Given the description of an element on the screen output the (x, y) to click on. 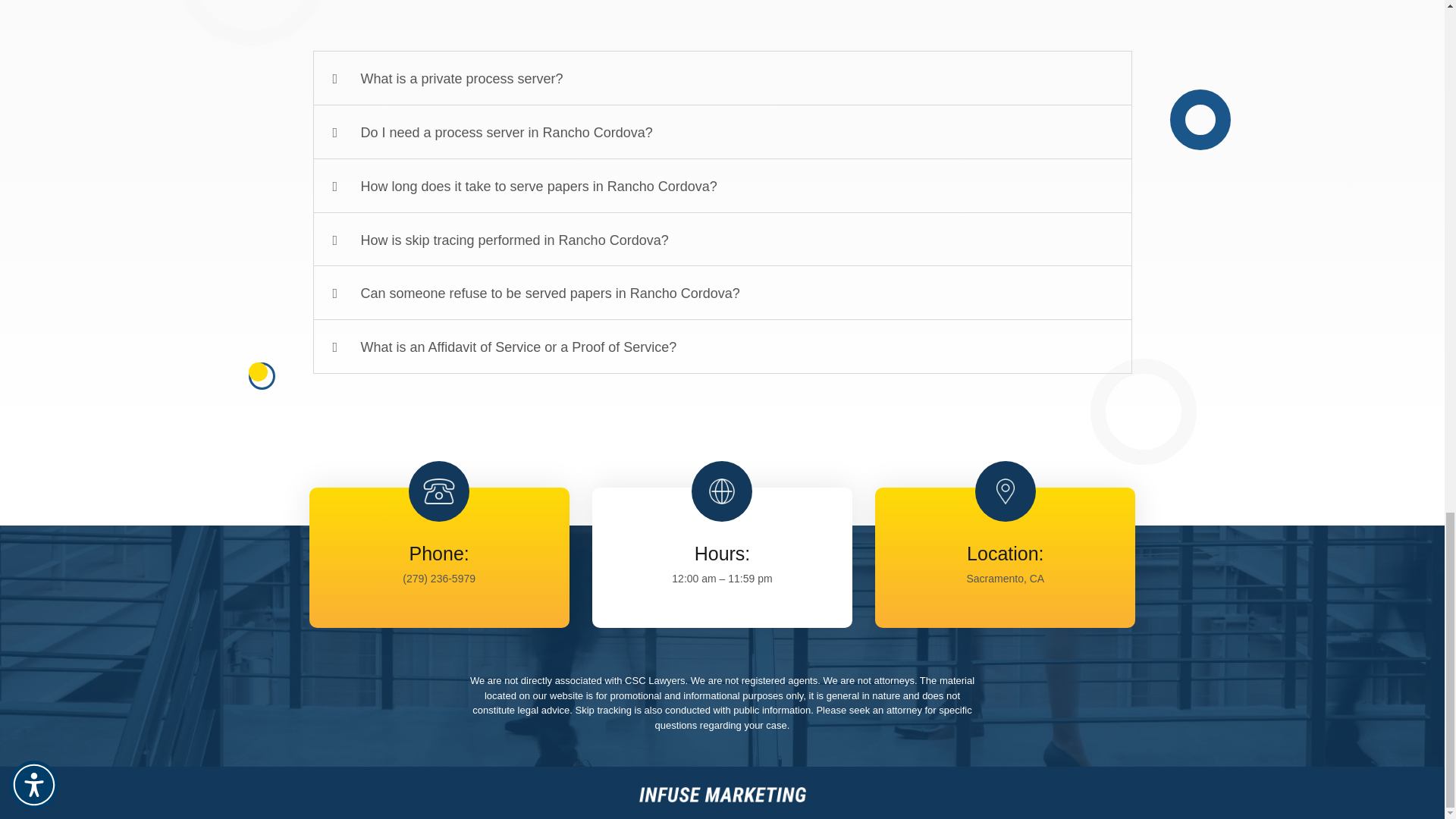
How is skip tracing performed in Rancho Cordova? (514, 239)
Can someone refuse to be served papers in Rancho Cordova? (550, 293)
What is an Affidavit of Service or a Proof of Service? (519, 346)
How long does it take to serve papers in Rancho Cordova? (539, 186)
Do I need a process server in Rancho Cordova? (506, 132)
What is a private process server? (462, 78)
